Given the description of an element on the screen output the (x, y) to click on. 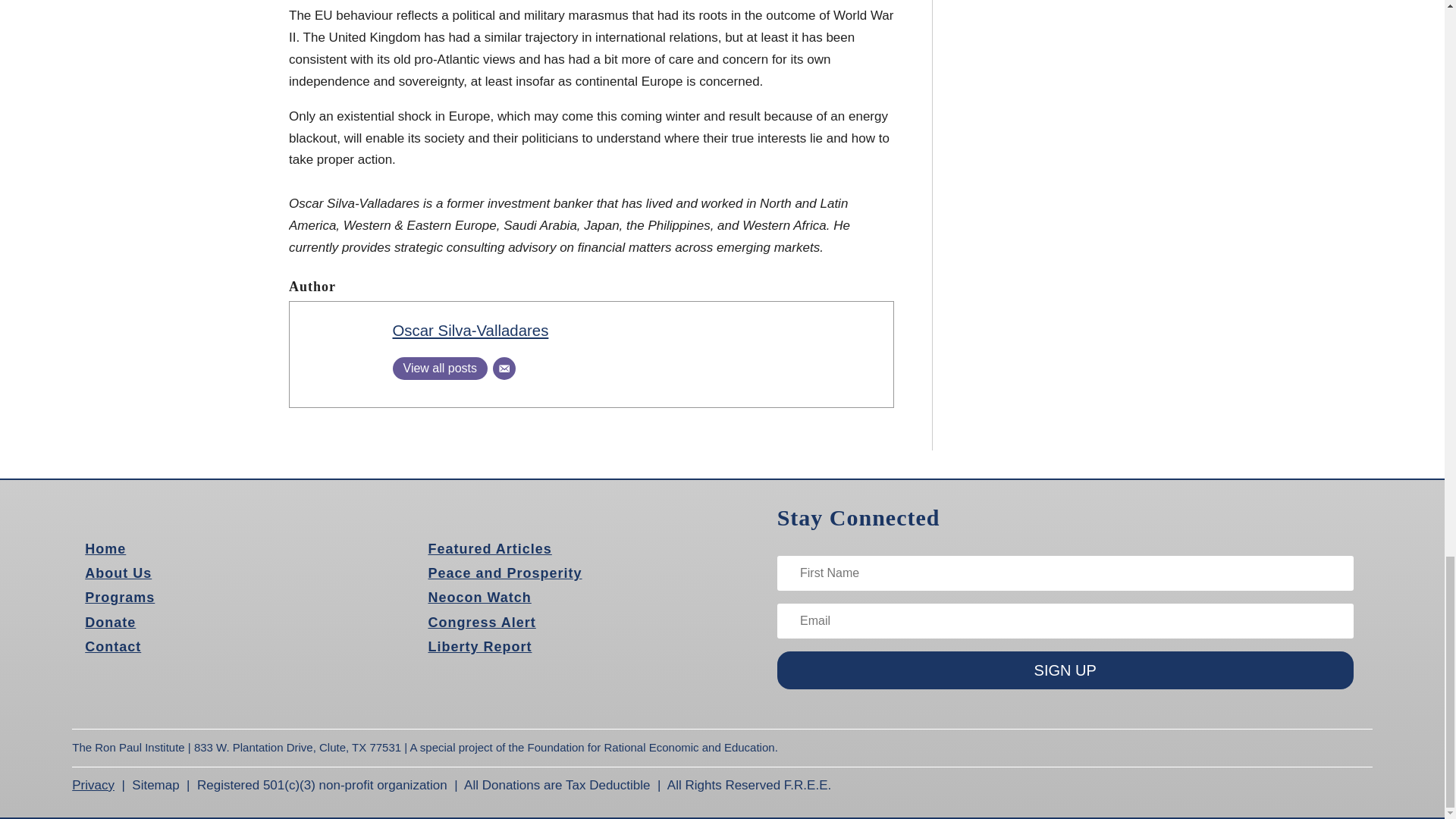
View all posts (440, 368)
Oscar Silva-Valladares (470, 330)
Oscar Silva-Valladares (470, 330)
View all posts (440, 368)
Review our Privacy Policy (93, 785)
